Given the description of an element on the screen output the (x, y) to click on. 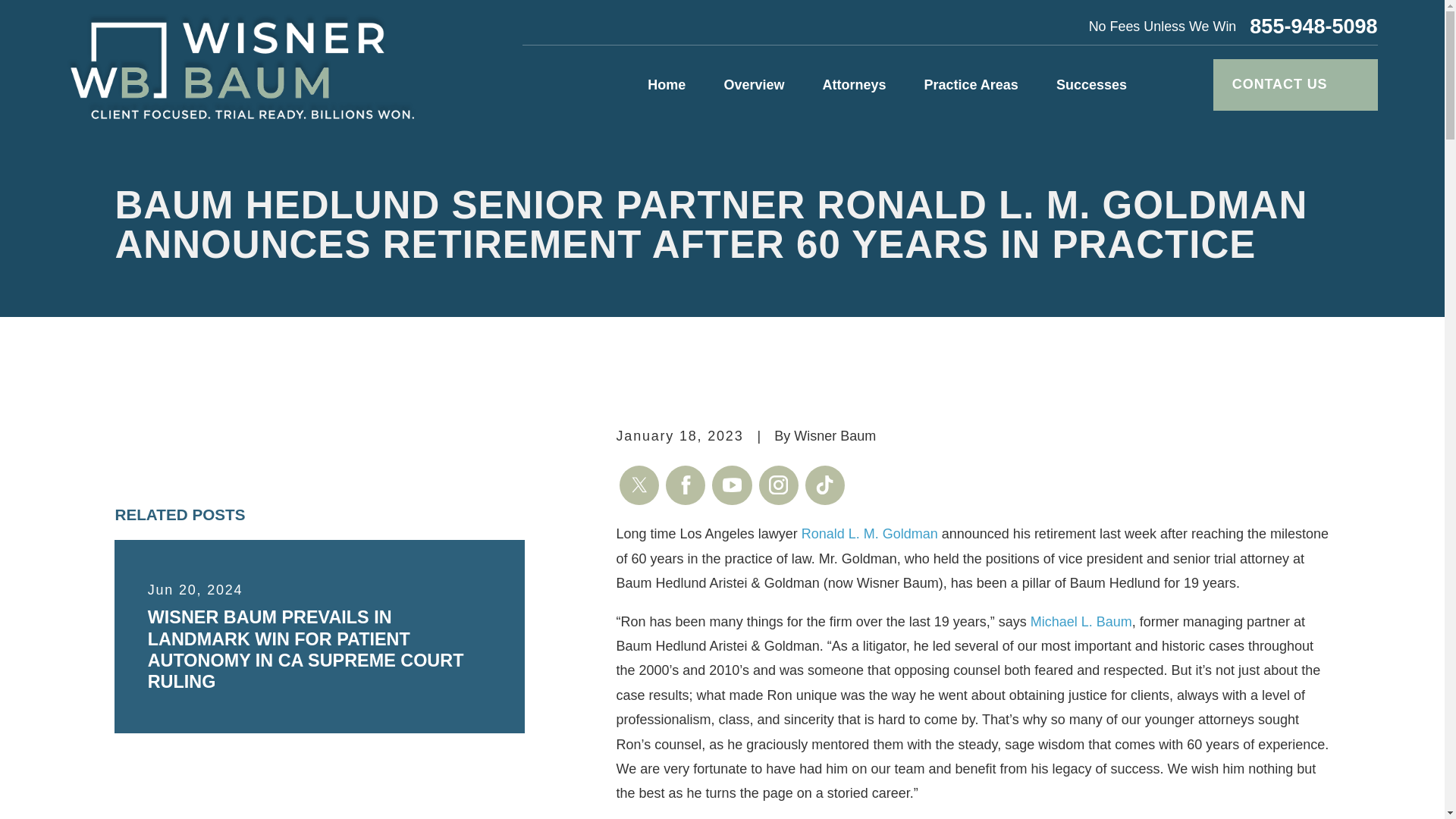
Twitter (639, 485)
Practice Areas (970, 85)
Attorneys (853, 85)
Home (240, 66)
TikTok (824, 485)
Facebook (684, 485)
Wisner Baum (240, 65)
Overview (753, 85)
855-948-5098 (1313, 26)
Search Our Site (1181, 84)
YouTube (731, 485)
Home (666, 85)
Instagram (777, 485)
